Given the description of an element on the screen output the (x, y) to click on. 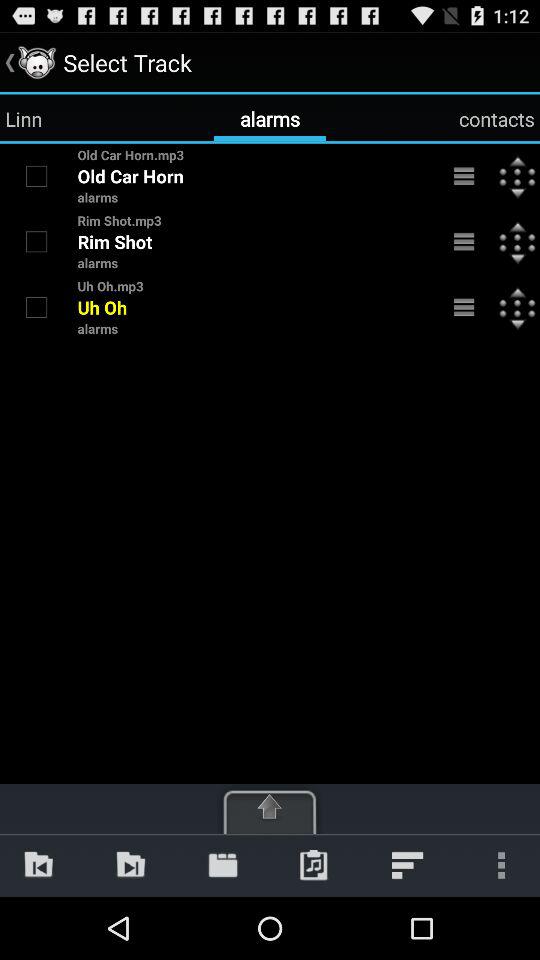
expand menu or move item for alarm (463, 175)
